Given the description of an element on the screen output the (x, y) to click on. 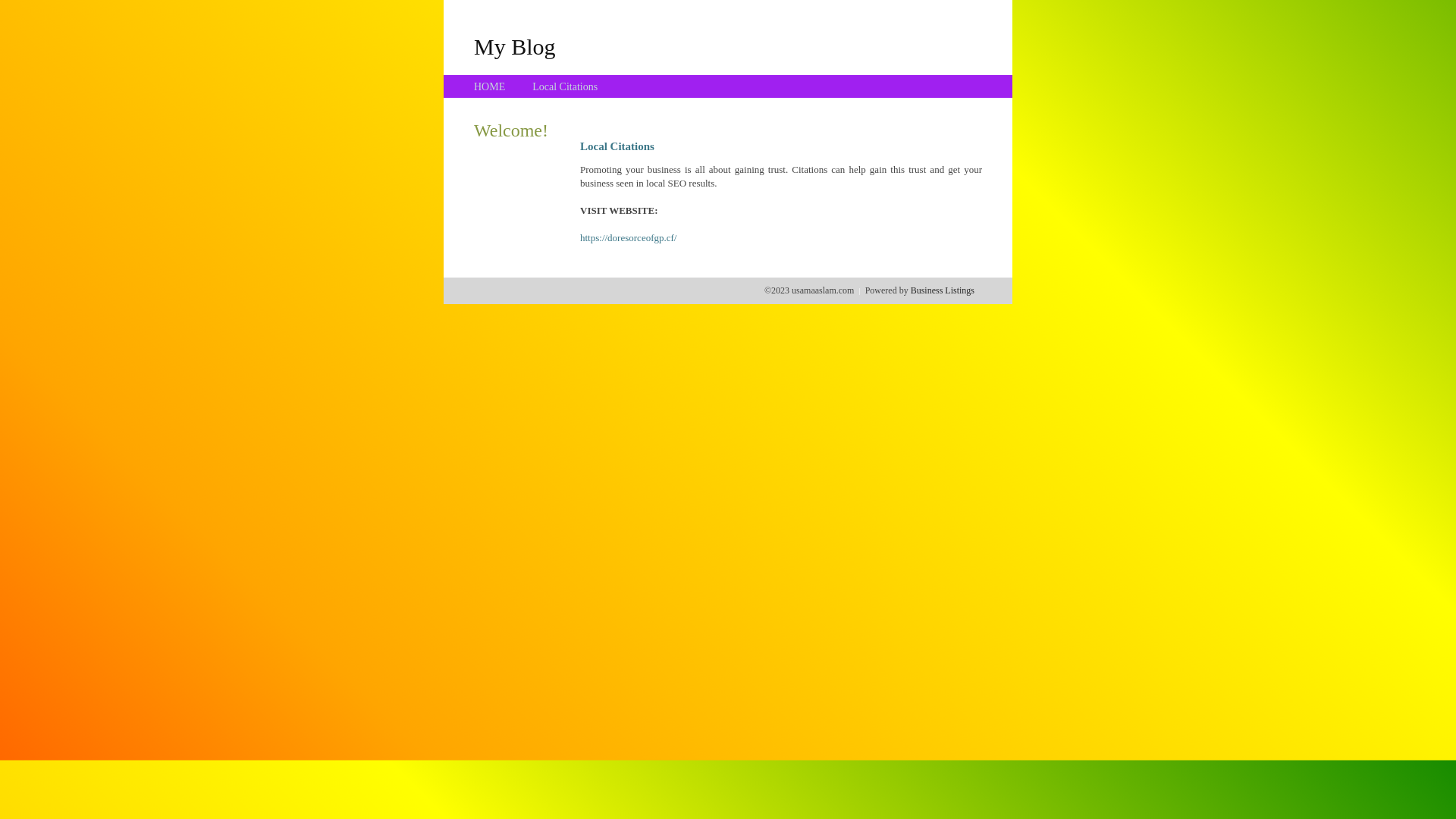
https://doresorceofgp.cf/ Element type: text (628, 237)
Local Citations Element type: text (564, 86)
Business Listings Element type: text (942, 290)
HOME Element type: text (489, 86)
My Blog Element type: text (514, 46)
